Given the description of an element on the screen output the (x, y) to click on. 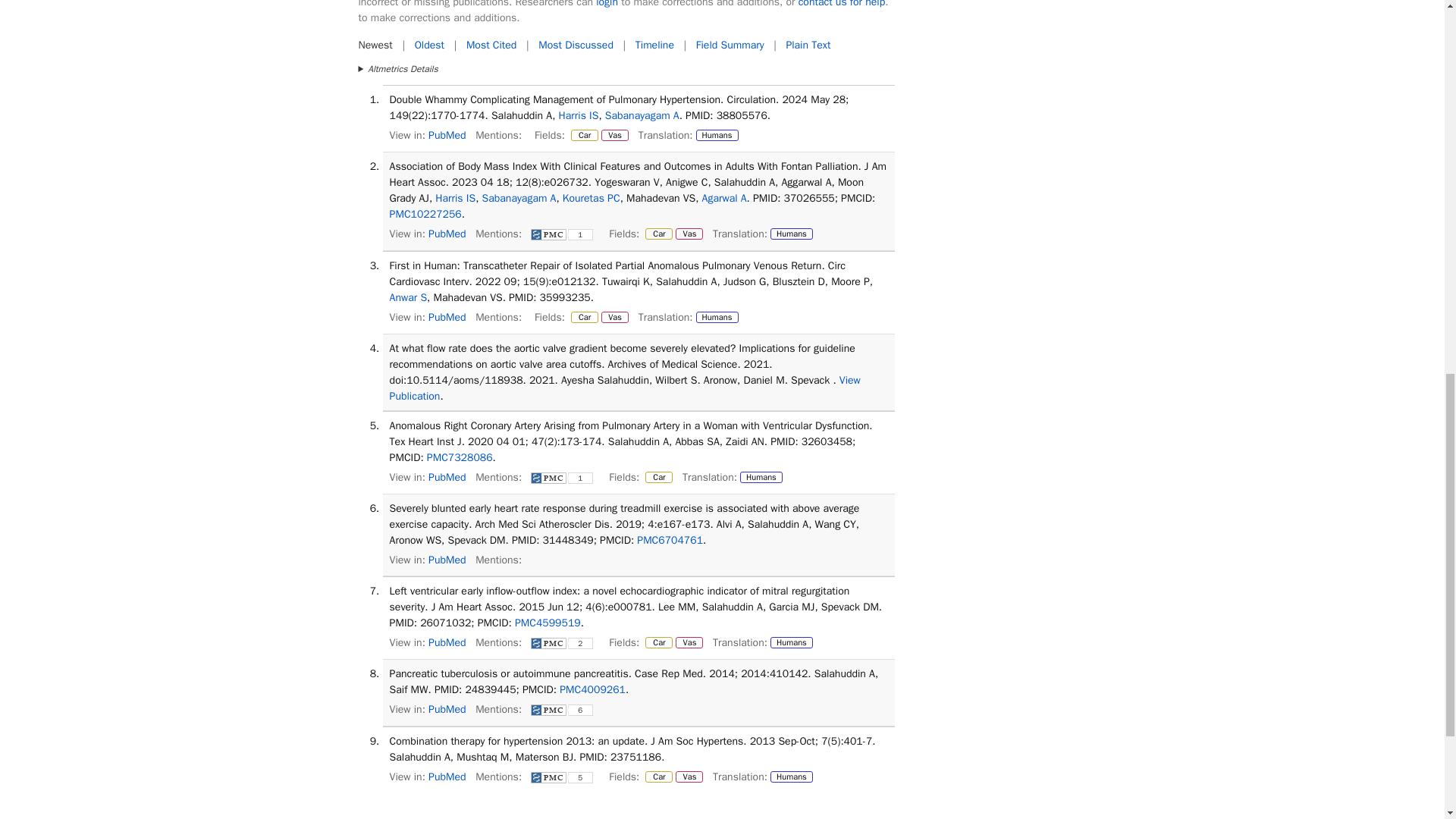
login (606, 4)
Newest (374, 44)
contact us for help (841, 4)
Oldest (429, 44)
Most Discussed (575, 44)
Most Cited (490, 44)
